Given the description of an element on the screen output the (x, y) to click on. 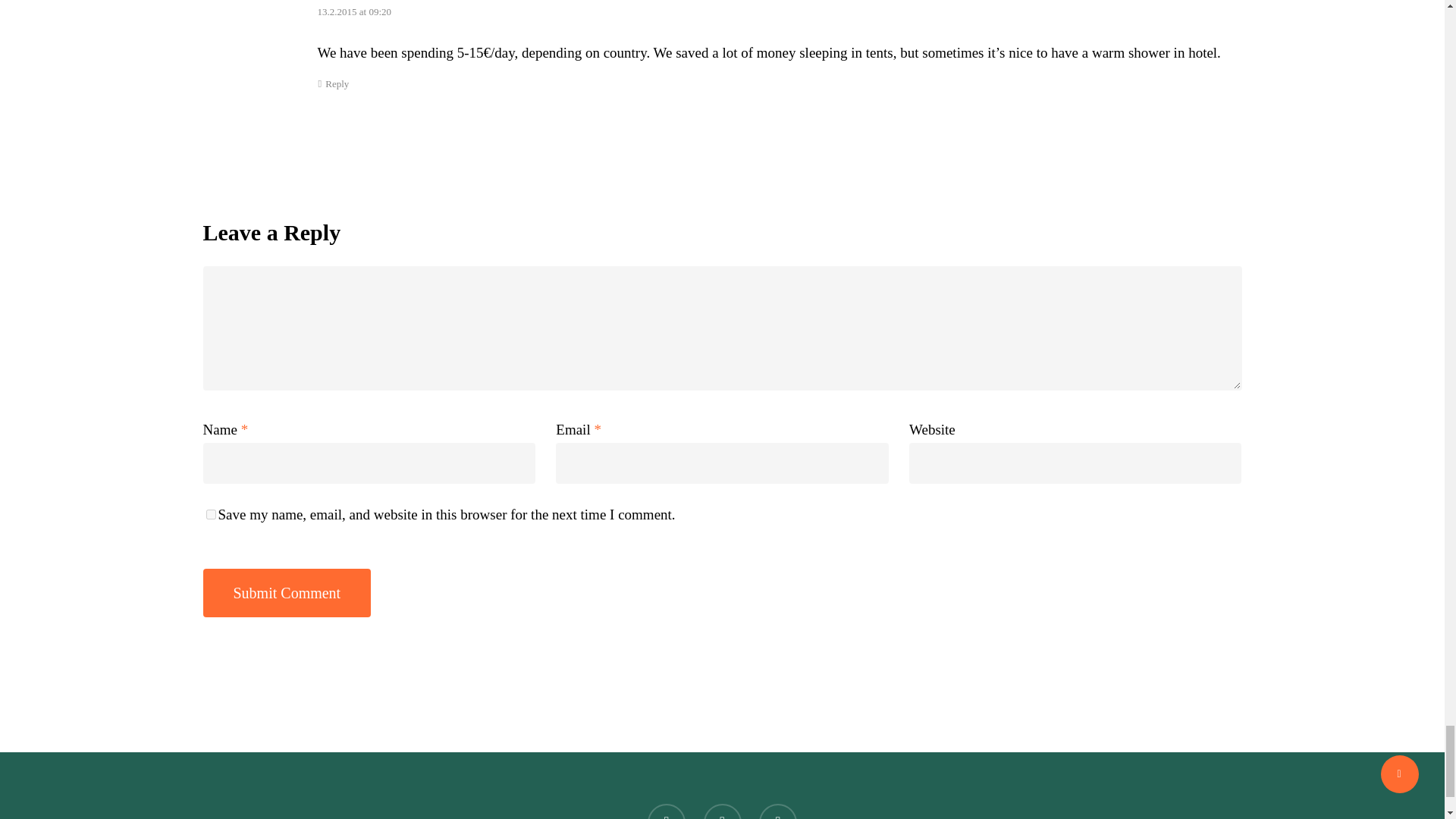
yes (210, 514)
13.2.2015 at 09:20 (354, 11)
Submit Comment (287, 592)
Reply (333, 83)
Submit Comment (287, 592)
